Given the description of an element on the screen output the (x, y) to click on. 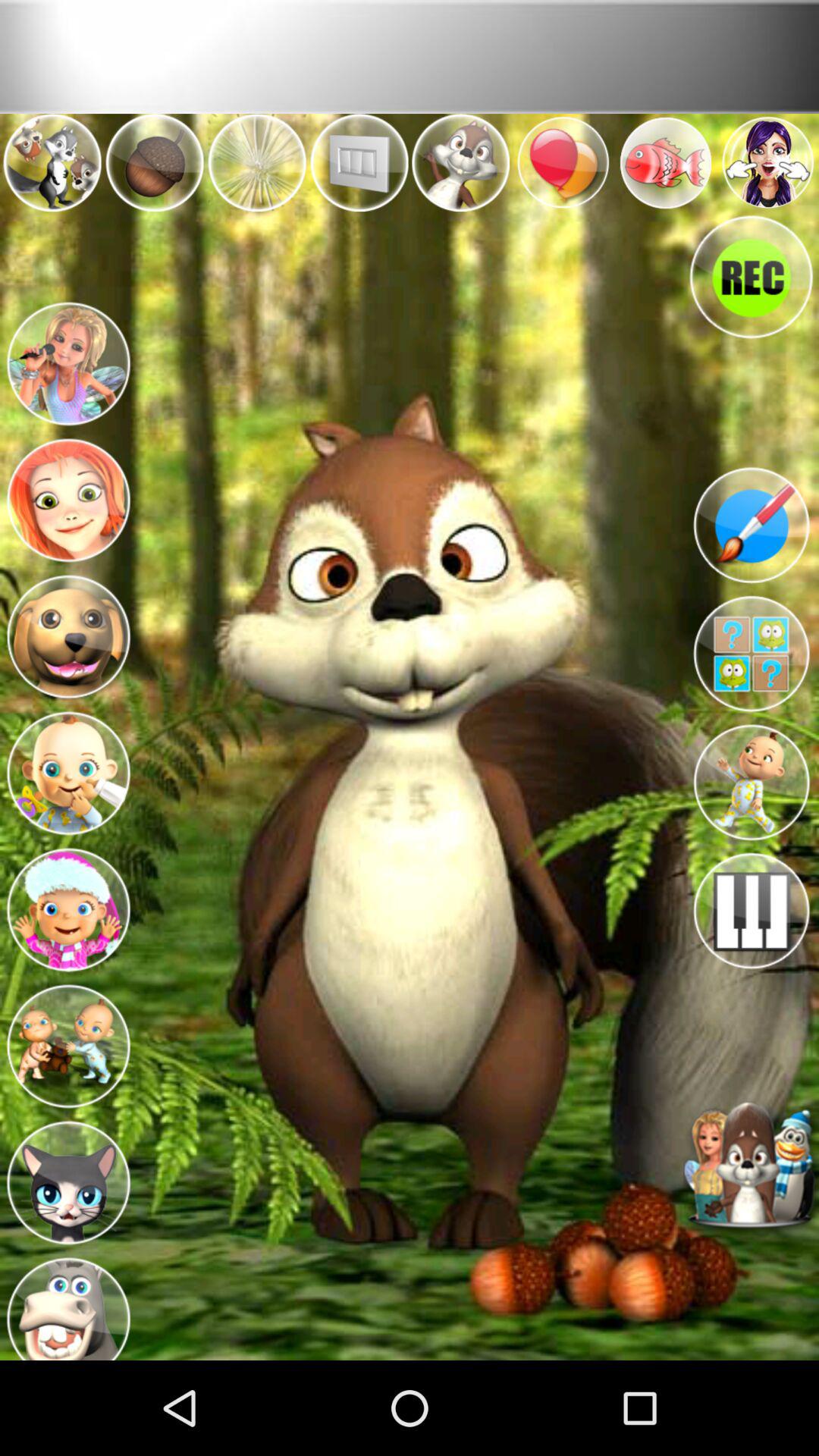
change character (68, 1178)
